Given the description of an element on the screen output the (x, y) to click on. 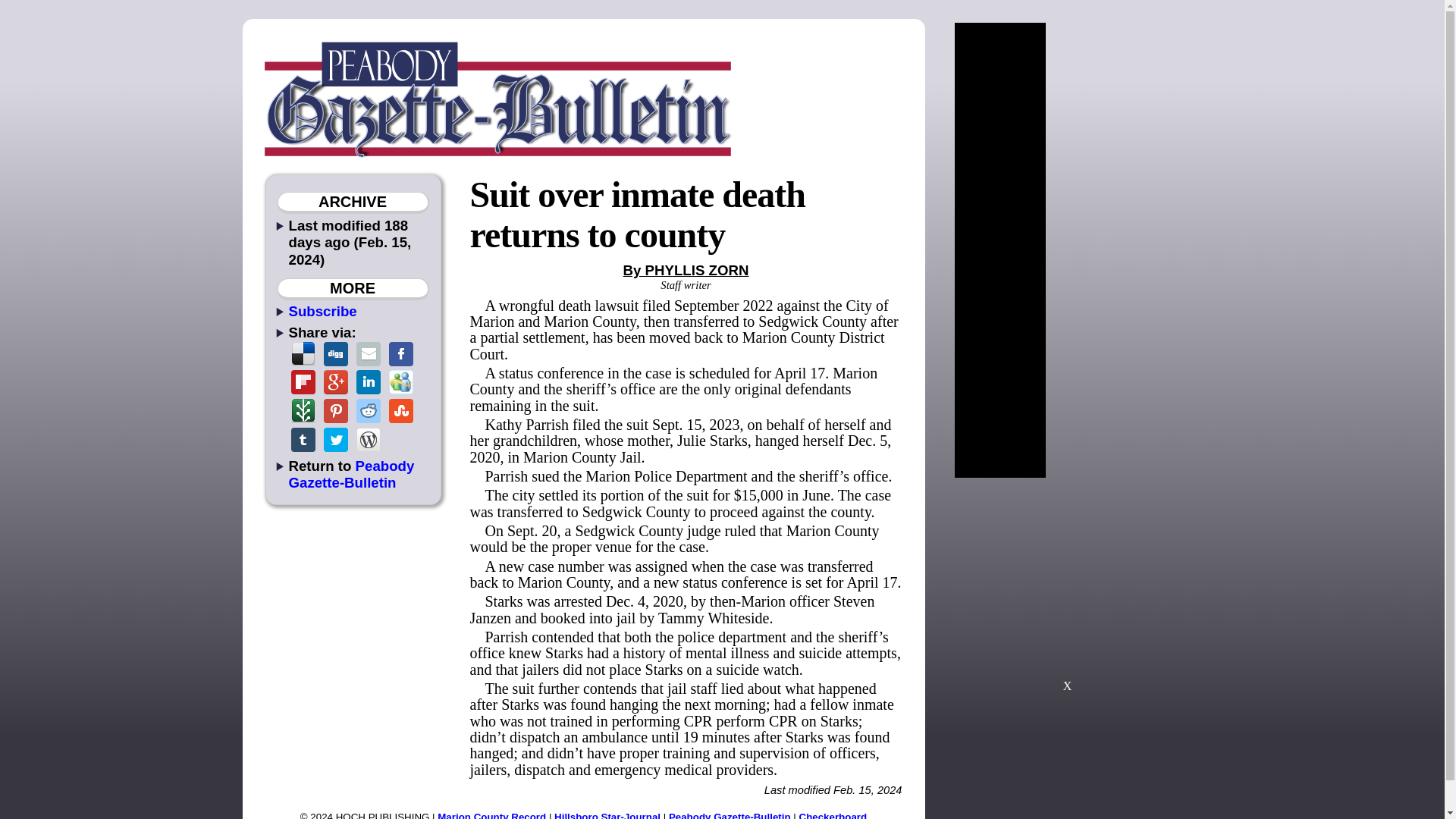
Marion County Record (492, 815)
Advertisement (1067, 591)
Hillsboro Star-Journal (607, 815)
Checkerboard (833, 815)
Subscribe (322, 311)
Peabody Gazette-Bulletin (729, 815)
Peabody Gazette-Bulletin (350, 473)
